Given the description of an element on the screen output the (x, y) to click on. 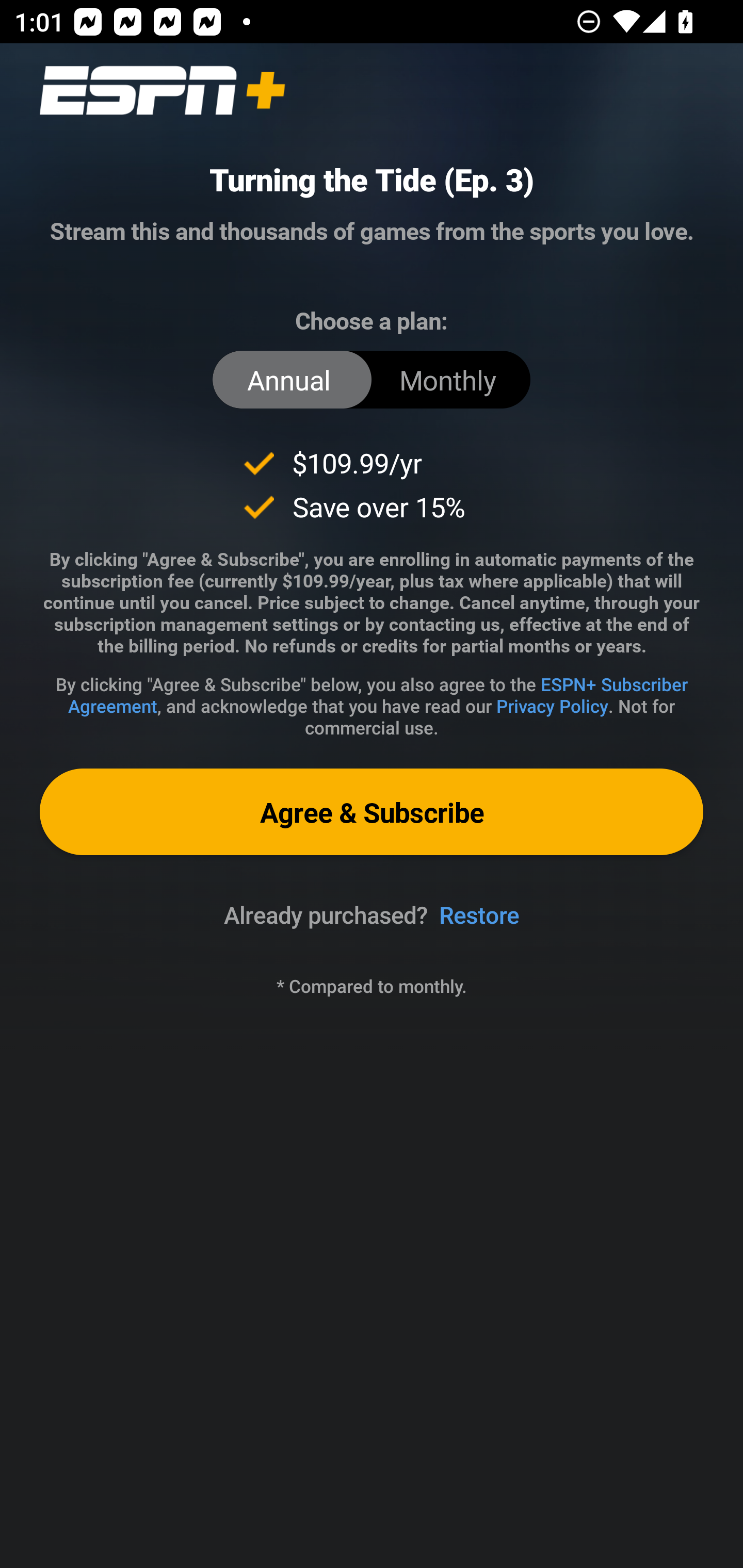
Agree & Subscribe (371, 811)
